Given the description of an element on the screen output the (x, y) to click on. 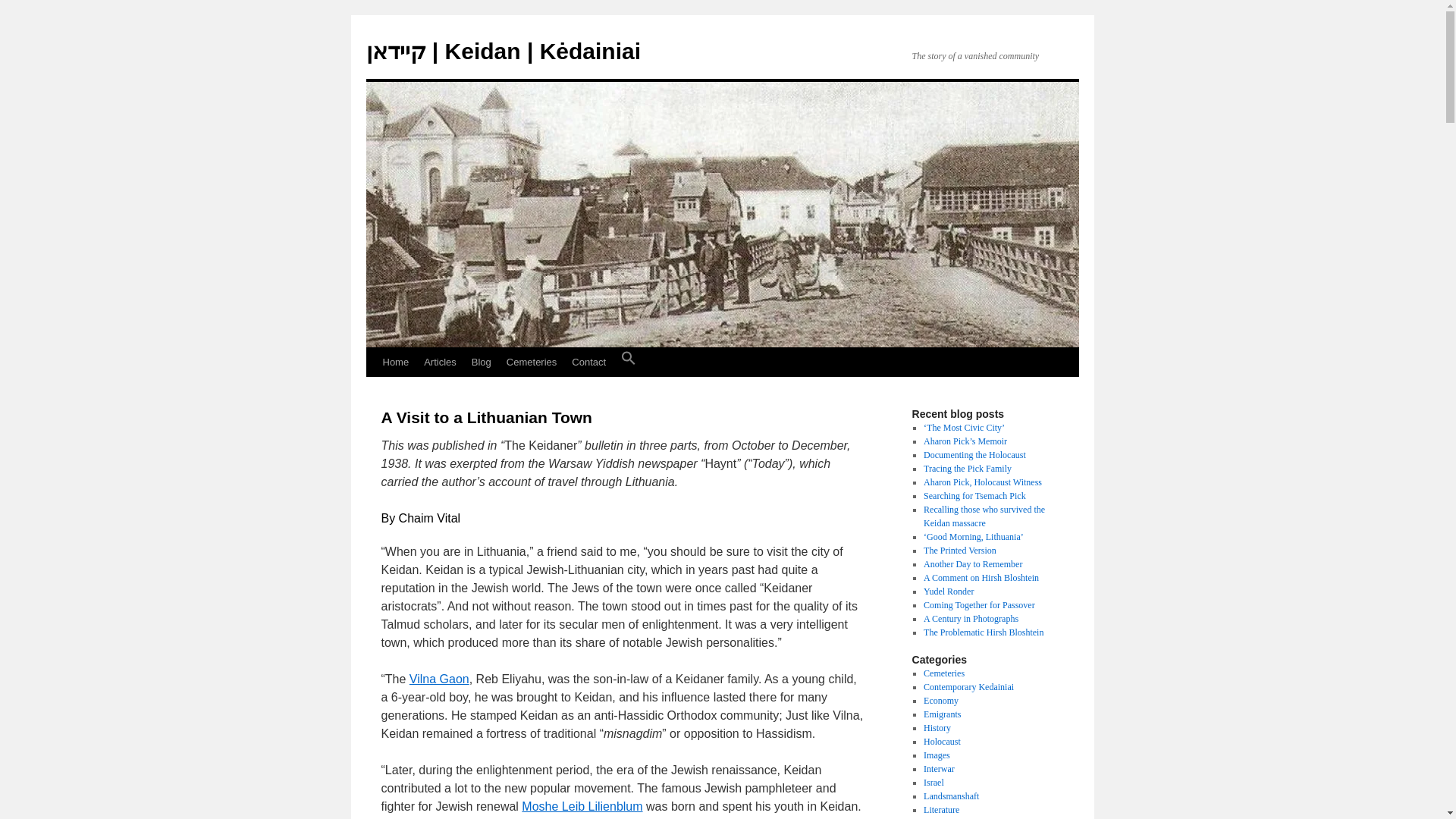
Contact (588, 362)
Home (395, 362)
Searching for Tsemach Pick (974, 495)
Contemporary Kedainiai (968, 686)
Cemeteries (531, 362)
Another Day to Remember (972, 563)
Emigrants (941, 714)
Articles (440, 362)
Economy (940, 700)
Tracing the Pick Family (967, 468)
